Given the description of an element on the screen output the (x, y) to click on. 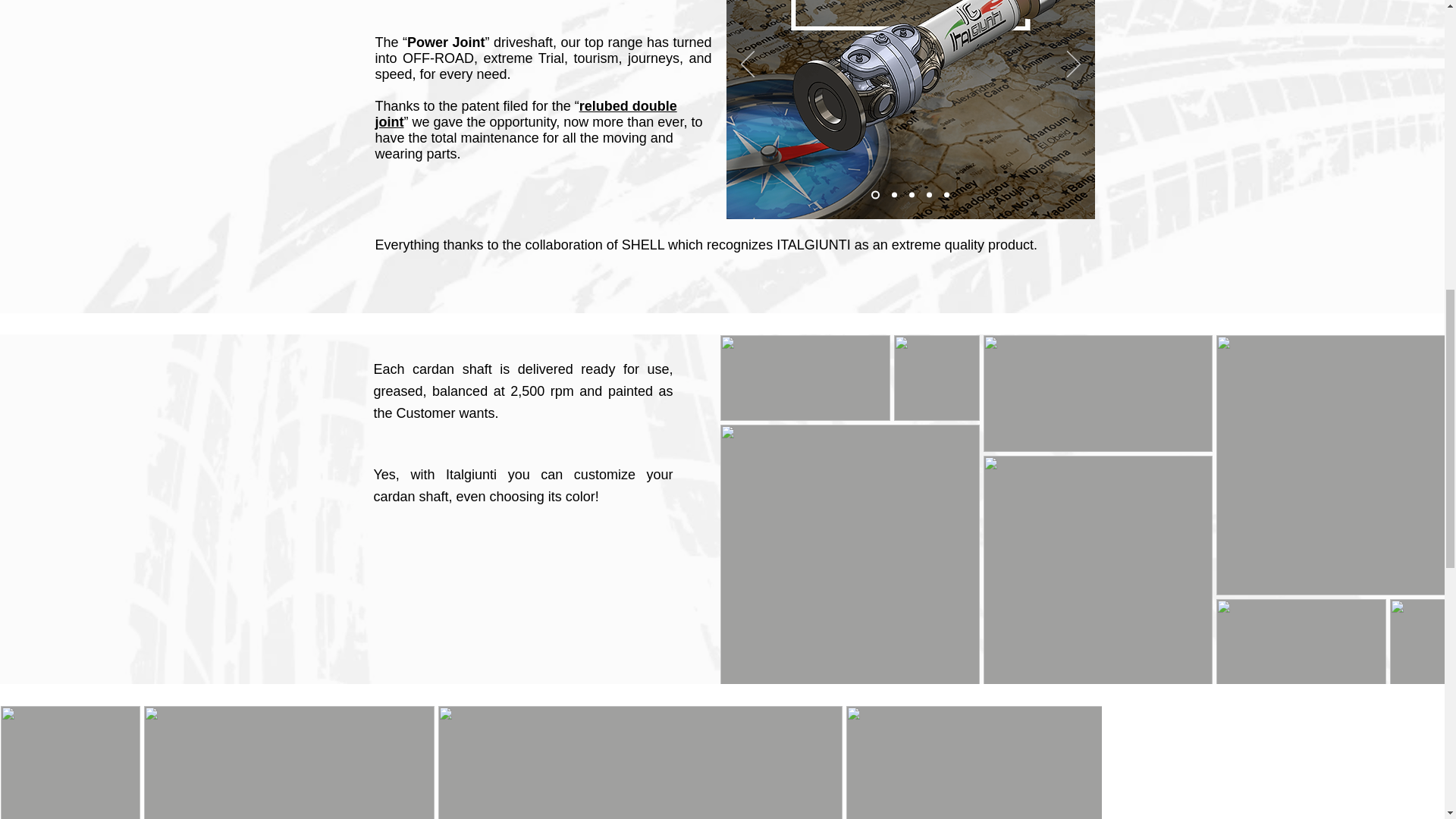
relubed double joint (525, 113)
